Given the description of an element on the screen output the (x, y) to click on. 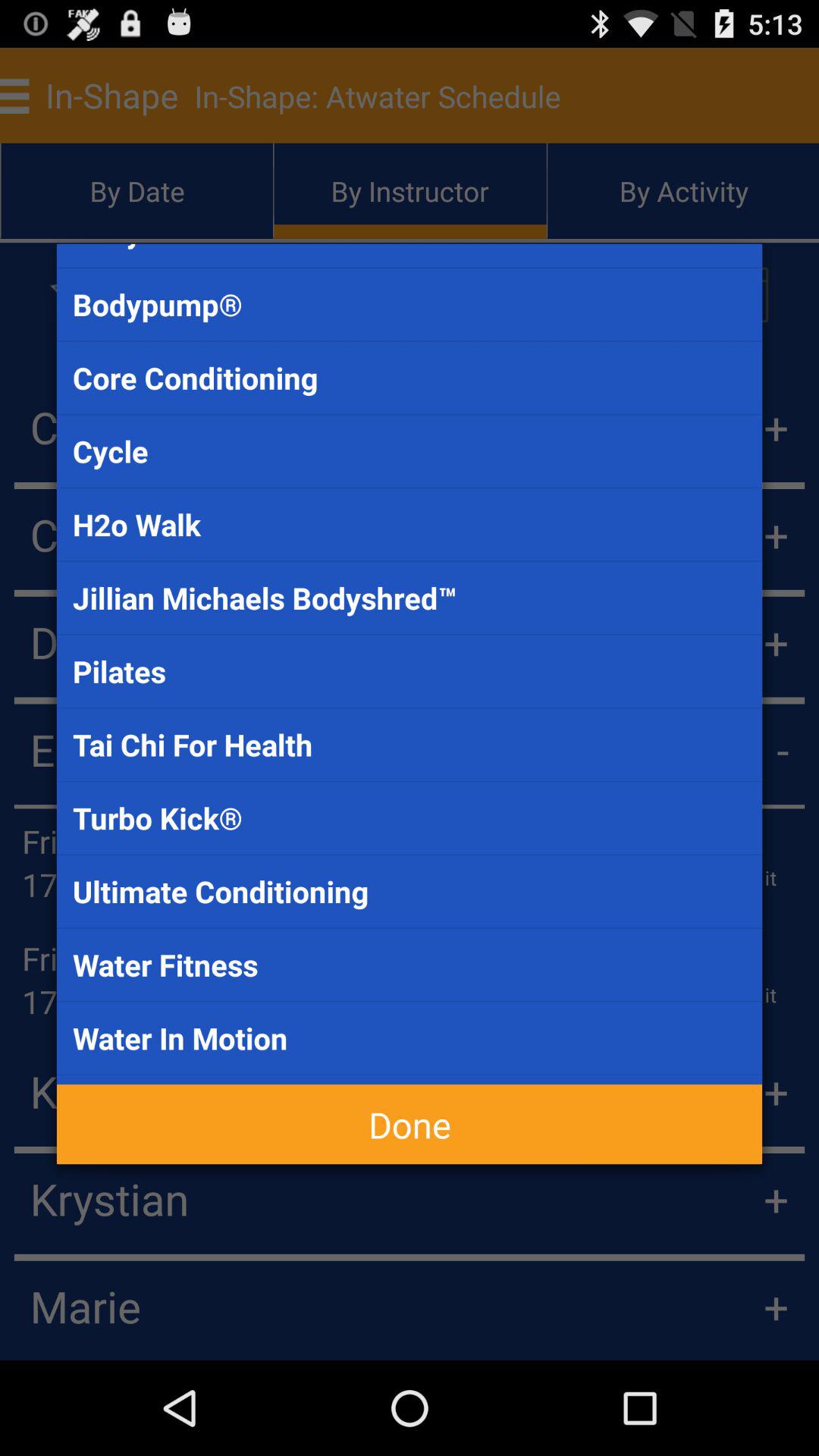
press the app above tai chi for (409, 671)
